Given the description of an element on the screen output the (x, y) to click on. 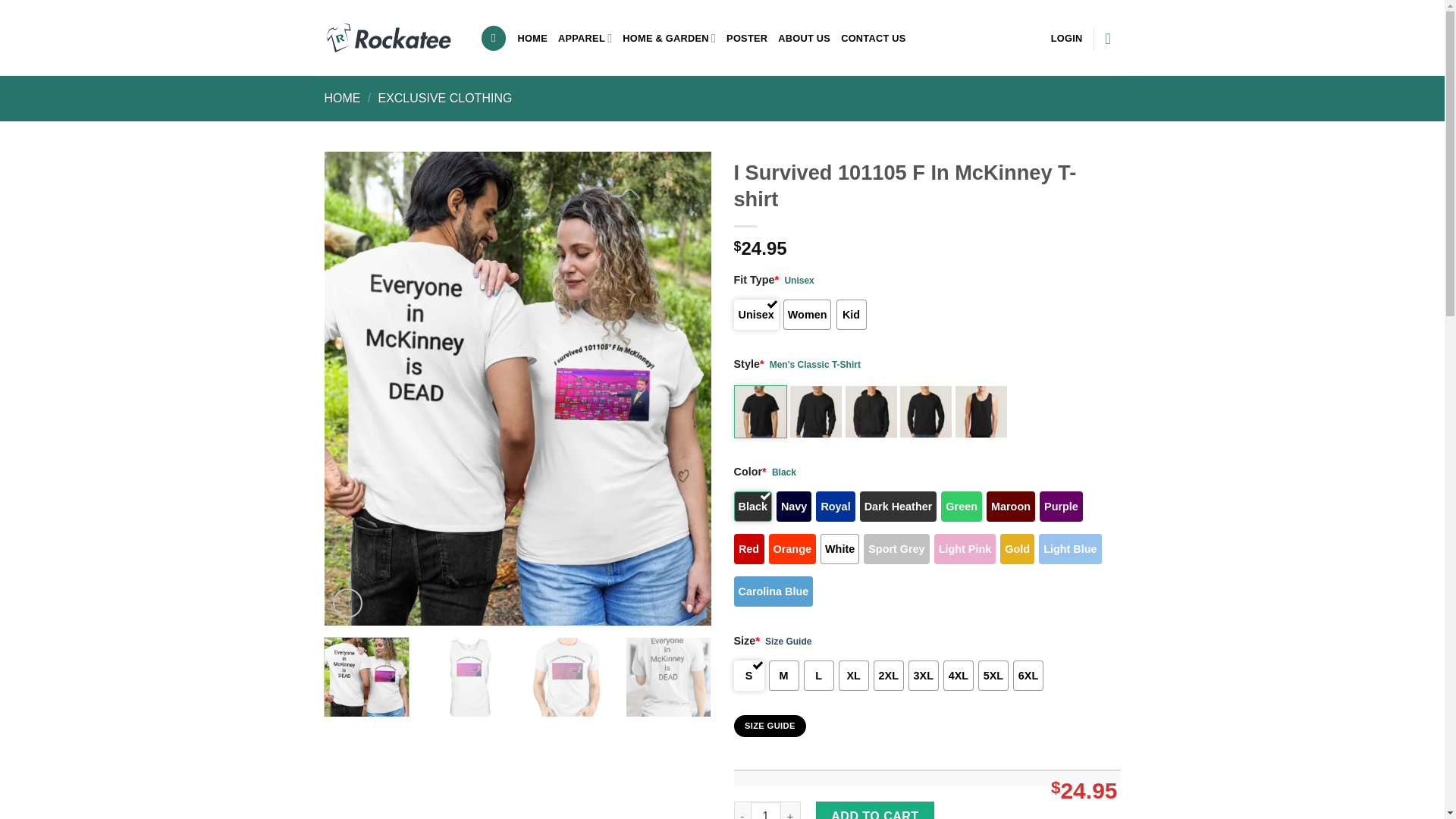
Women (807, 314)
Size Guide (787, 641)
CONTACT US (873, 38)
APPAREL (584, 38)
POSTER (746, 38)
Dark Heather (898, 506)
LOGIN (1067, 38)
ABOUT US (803, 38)
SIZE GUIDE (769, 725)
Black (752, 506)
Royal (834, 506)
Maroon (1011, 506)
EXCLUSIVE CLOTHING (444, 97)
HOME (342, 97)
HOME (532, 38)
